Given the description of an element on the screen output the (x, y) to click on. 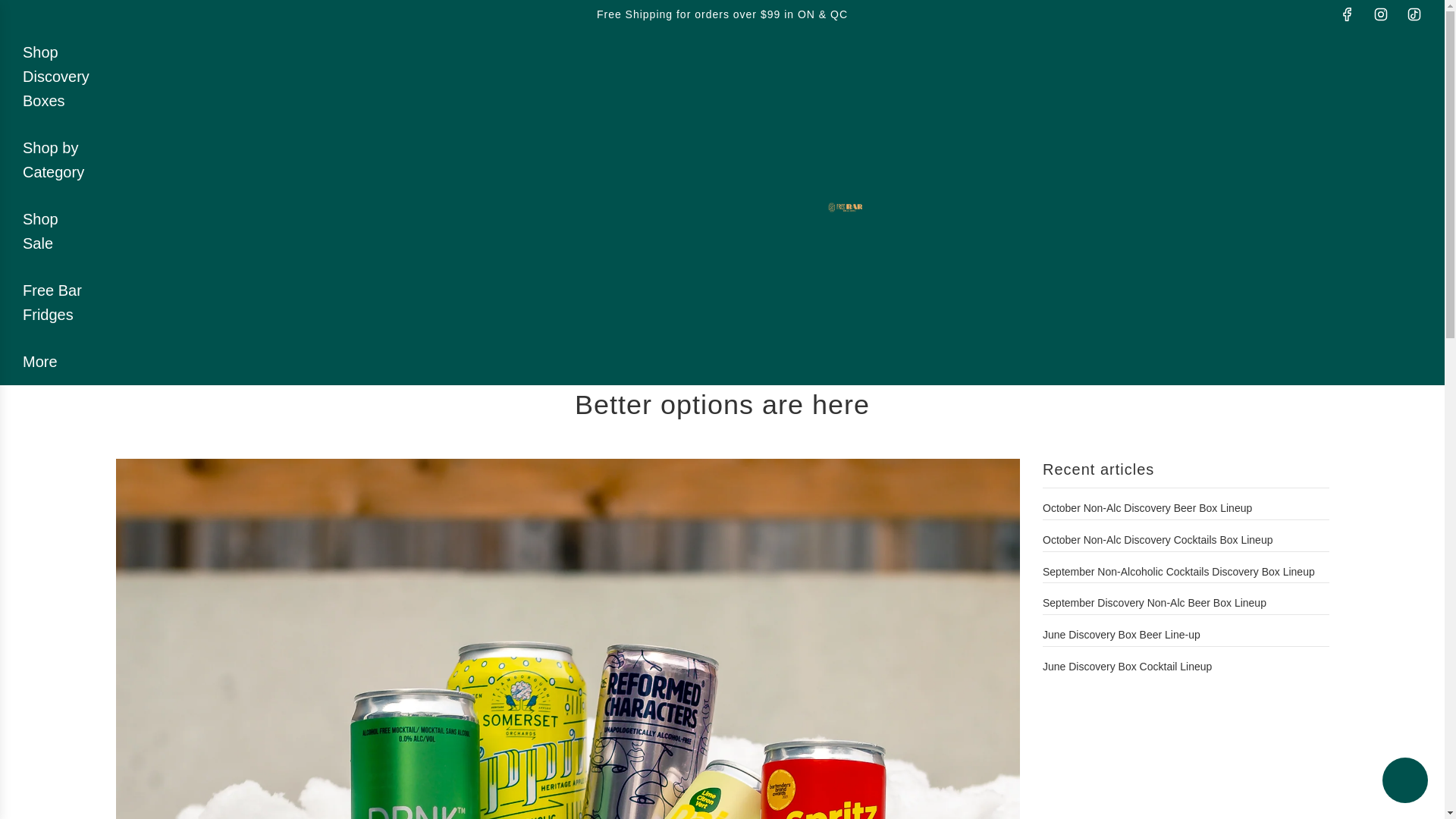
Free Bar Fridges (55, 302)
Shop Sale (55, 230)
More (39, 361)
Shopify online store chat (1404, 781)
Shop by Category (55, 159)
Shop Discovery Boxes (55, 76)
